Given the description of an element on the screen output the (x, y) to click on. 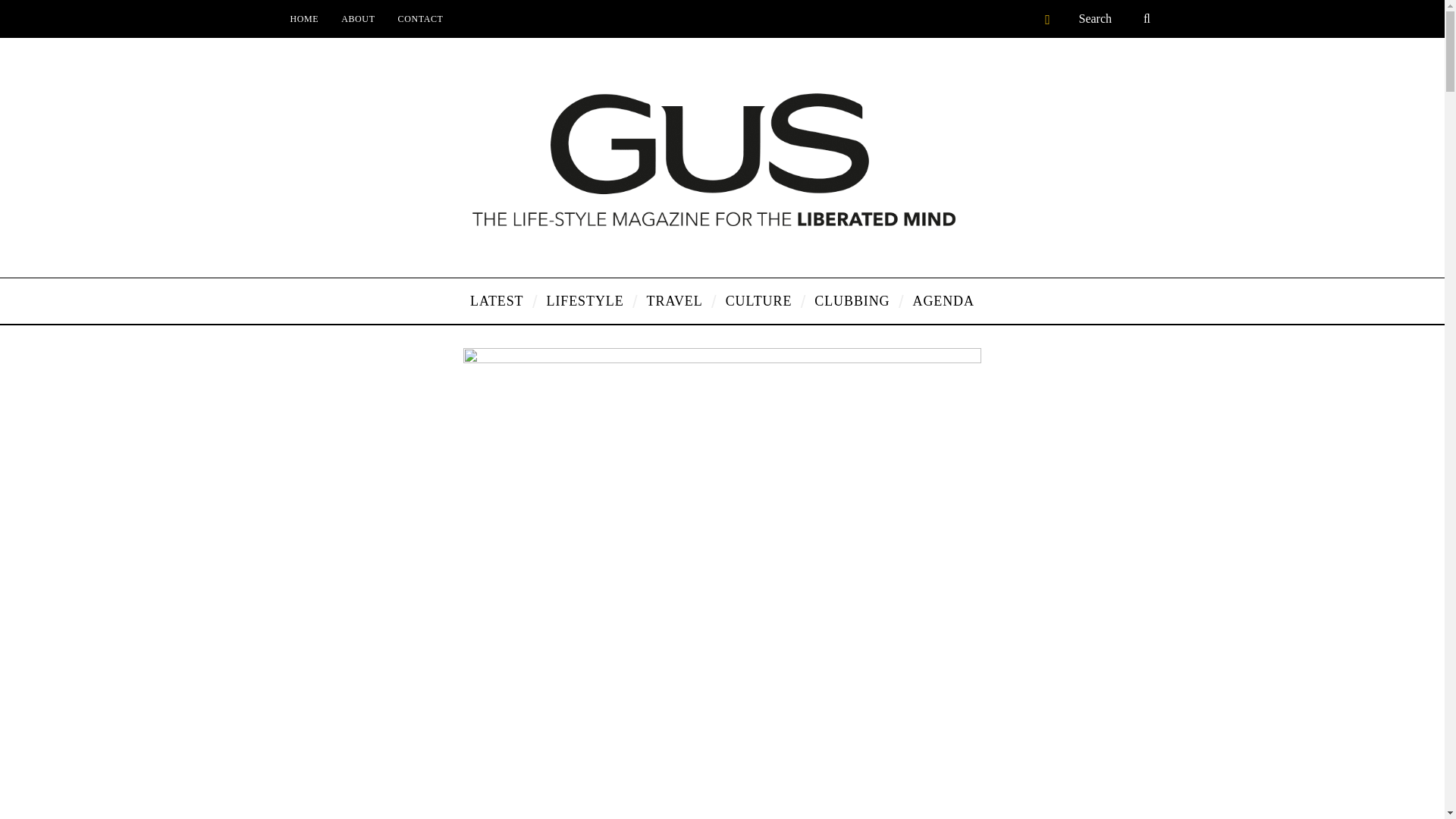
CONTACT (420, 18)
ABOUT (357, 18)
CULTURE (758, 300)
Search (1116, 18)
HOME (304, 18)
TRAVEL (674, 300)
